Given the description of an element on the screen output the (x, y) to click on. 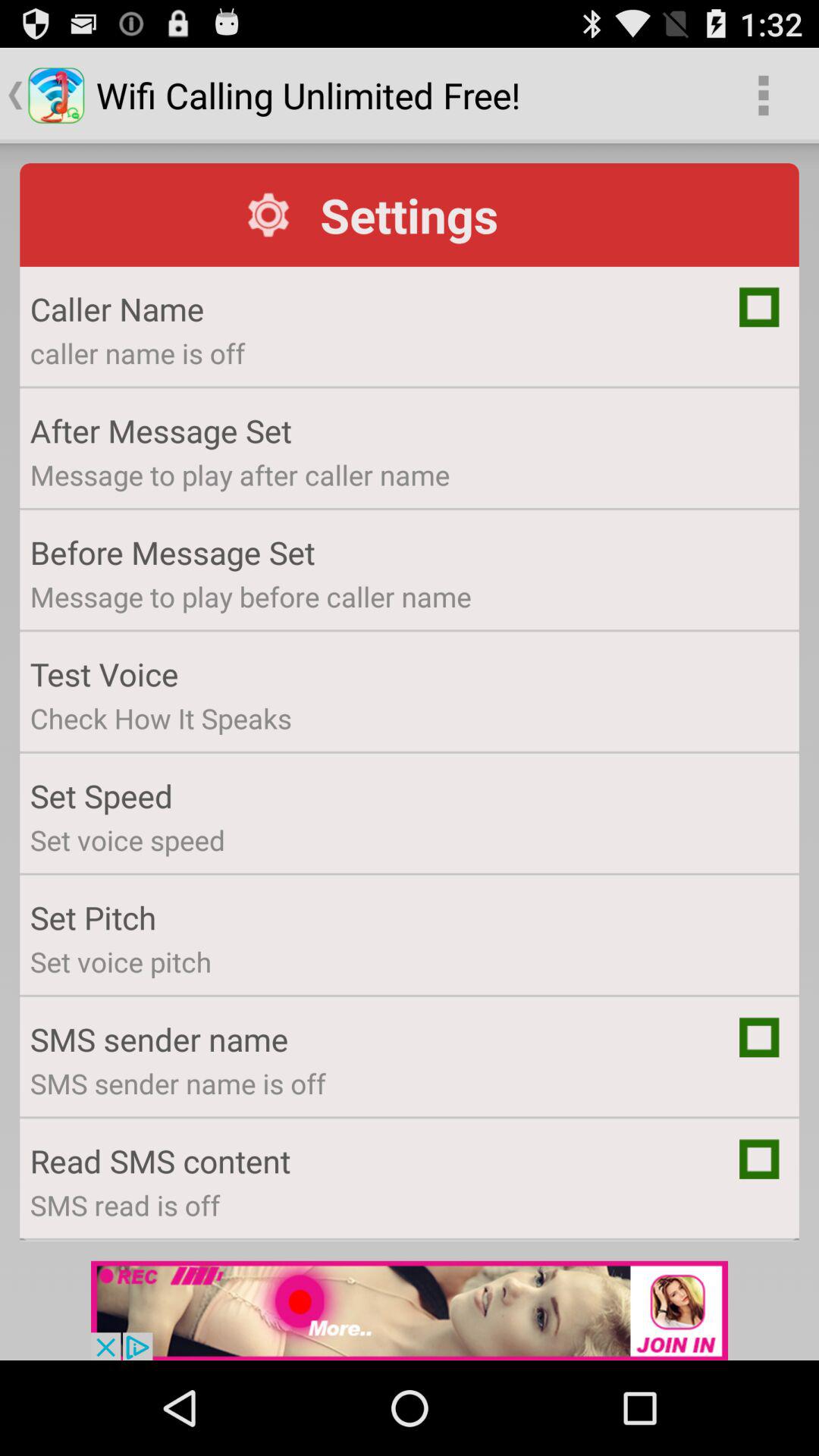
turn setting on (759, 1037)
